Given the description of an element on the screen output the (x, y) to click on. 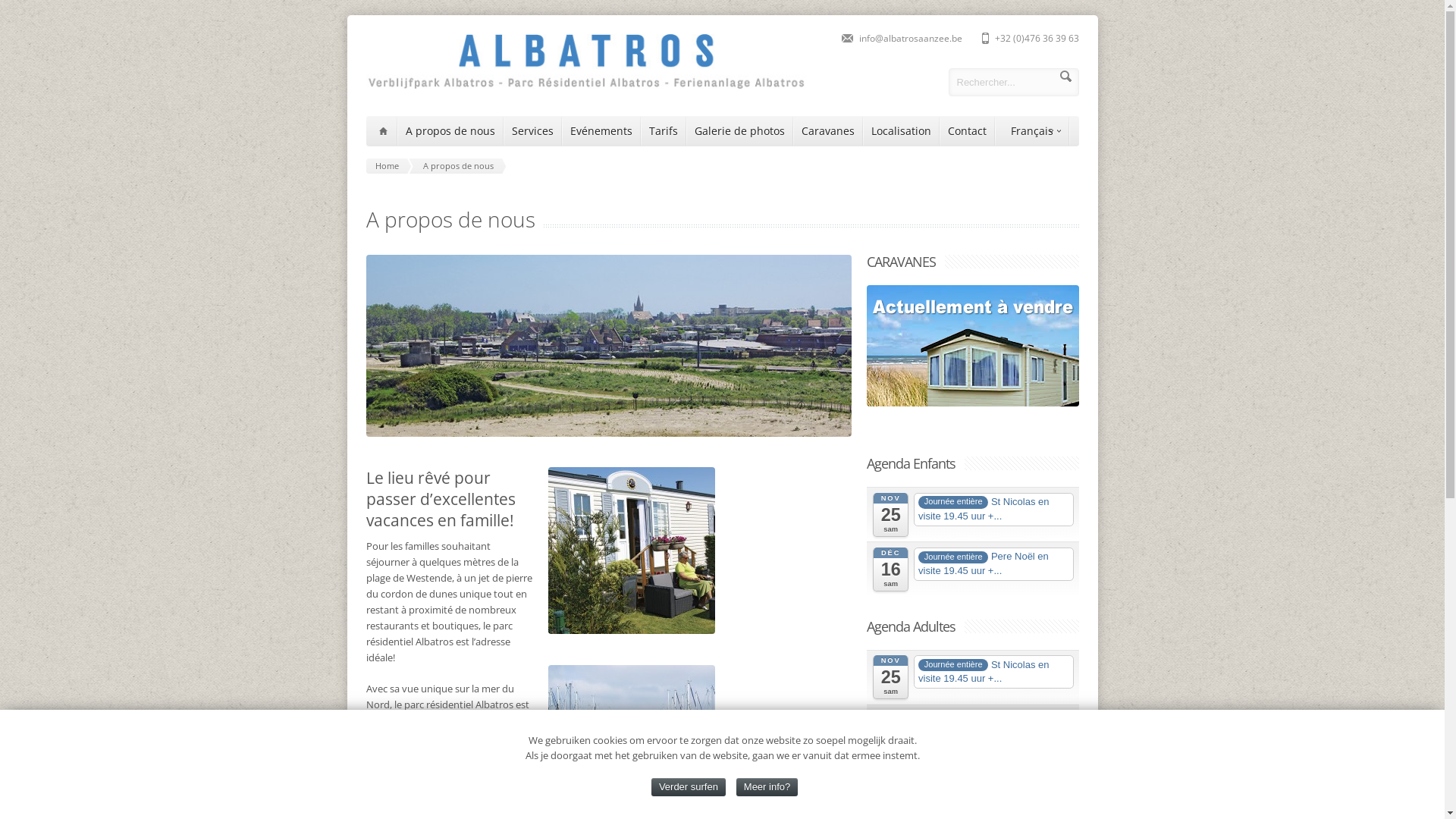
Home Element type: text (389, 165)
Verder surfen Element type: text (688, 787)
Albatros sur mer Element type: hover (585, 85)
NOV
25
sam Element type: text (890, 514)
NOV
25
sam Element type: text (890, 677)
Localisation Element type: text (900, 131)
Rechercher... Element type: text (1012, 82)
A propos de nous Element type: text (461, 165)
Galerie de photos Element type: text (739, 131)
A propos de nous Element type: text (449, 131)
Services Element type: text (531, 131)
Meer info? Element type: text (766, 787)
Contact Element type: text (967, 131)
Caravanes Element type: text (827, 131)
Tarifs Element type: text (663, 131)
